Given the description of an element on the screen output the (x, y) to click on. 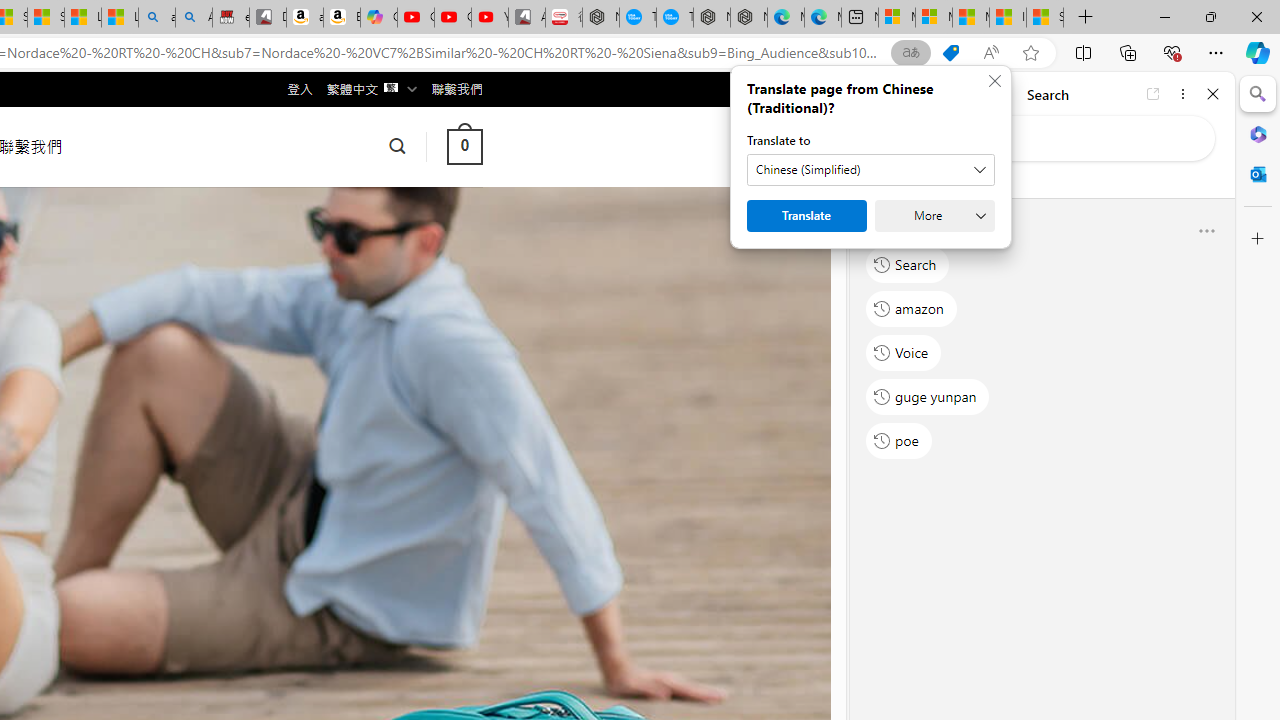
Open link in new tab (1153, 93)
Show translate options (910, 53)
poe (898, 441)
Translate (806, 215)
Web scope (882, 180)
